Given the description of an element on the screen output the (x, y) to click on. 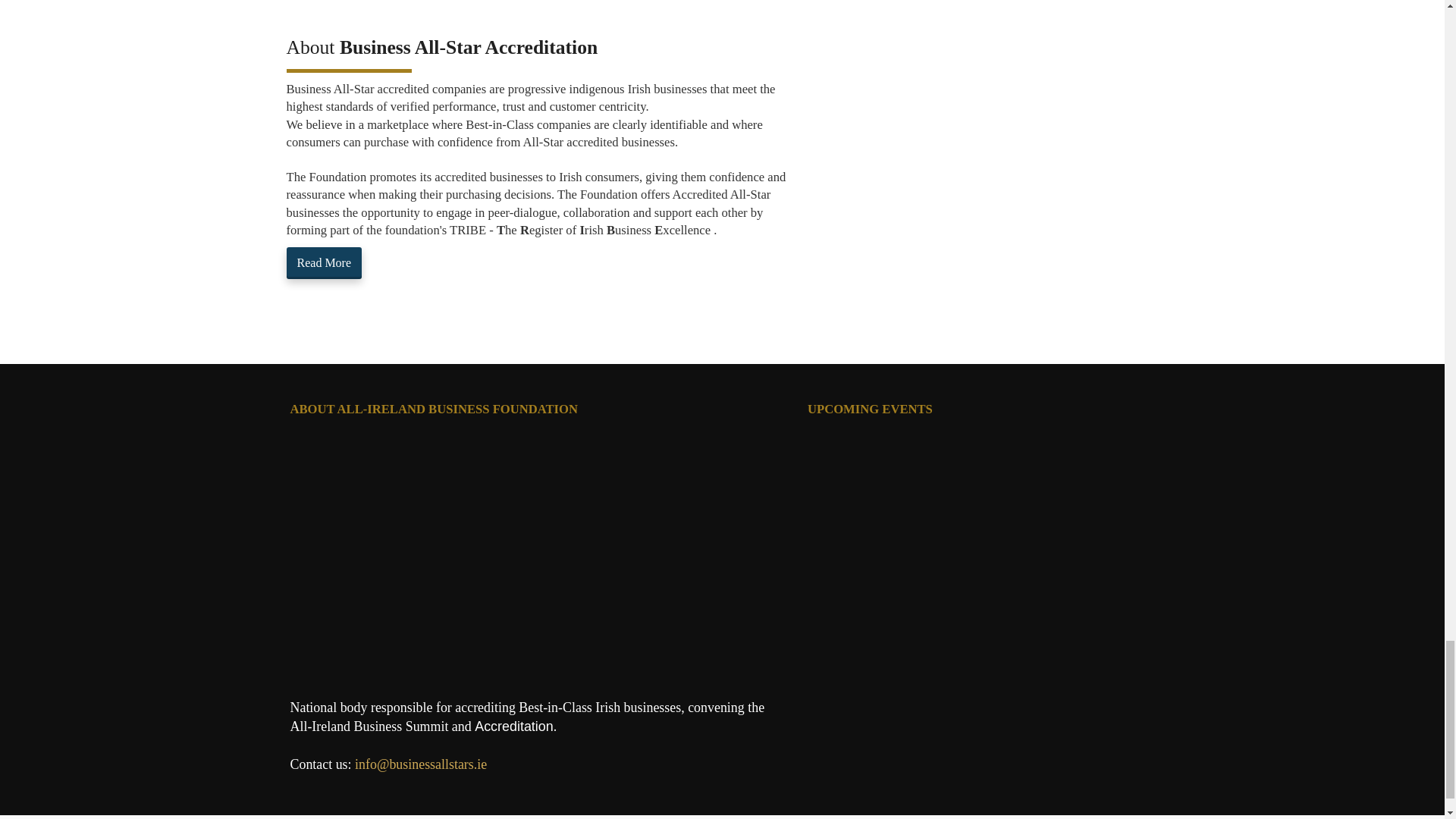
Read More (324, 263)
